Given the description of an element on the screen output the (x, y) to click on. 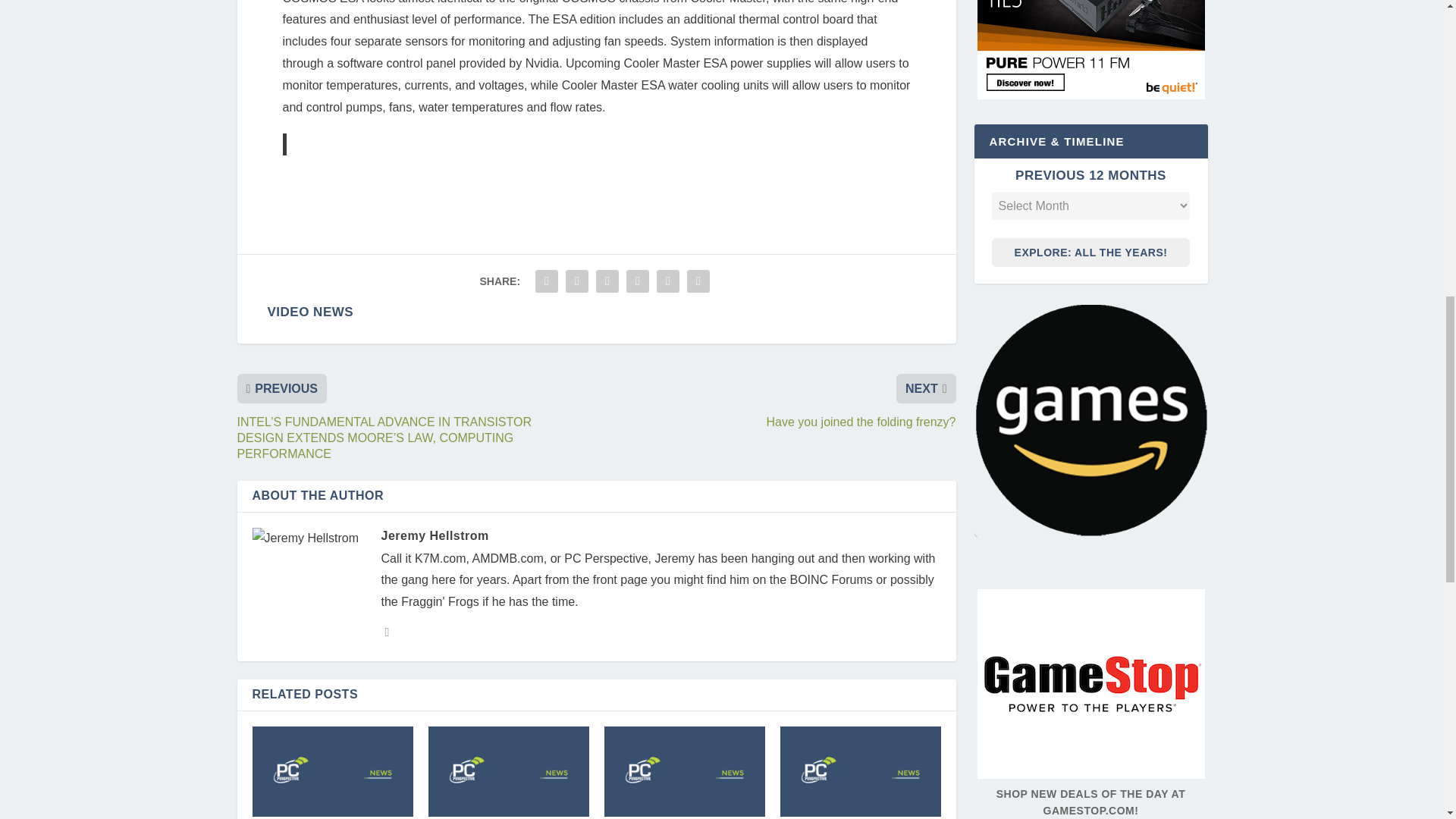
77 years ago Eliot Ness would have been your hero (331, 771)
Getting more out of the usual heatsink design (508, 771)
View all posts by Jeremy Hellstrom (433, 535)
Gymnastic memory (684, 771)
